Given the description of an element on the screen output the (x, y) to click on. 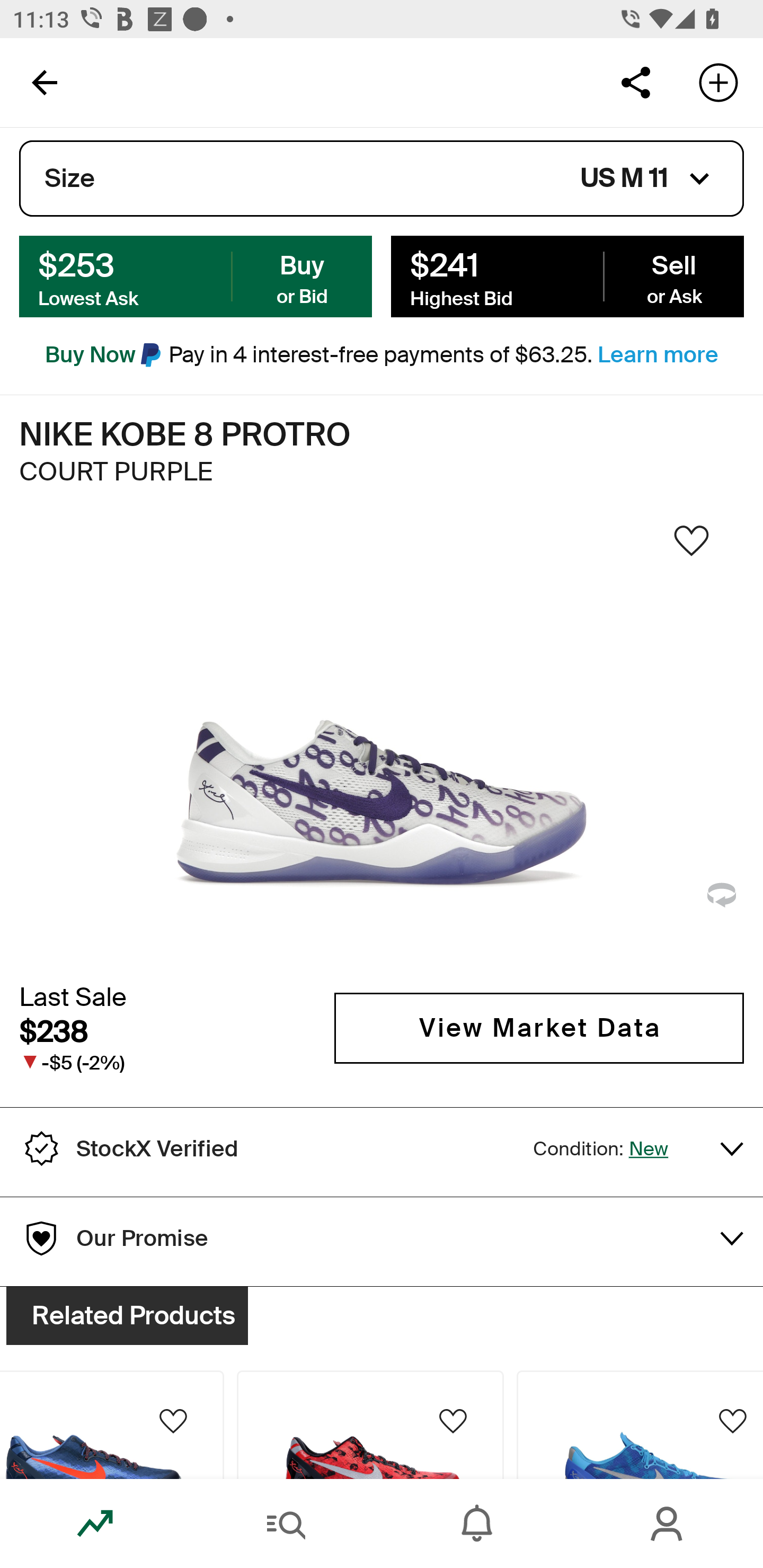
Share (635, 81)
Add (718, 81)
Size US M 11 (381, 178)
$253 Buy Lowest Ask or Bid (195, 275)
$241 Sell Highest Bid or Ask (566, 275)
Sneaker Image (381, 745)
View Market Data (538, 1027)
Search (285, 1523)
Inbox (476, 1523)
Account (667, 1523)
